Given the description of an element on the screen output the (x, y) to click on. 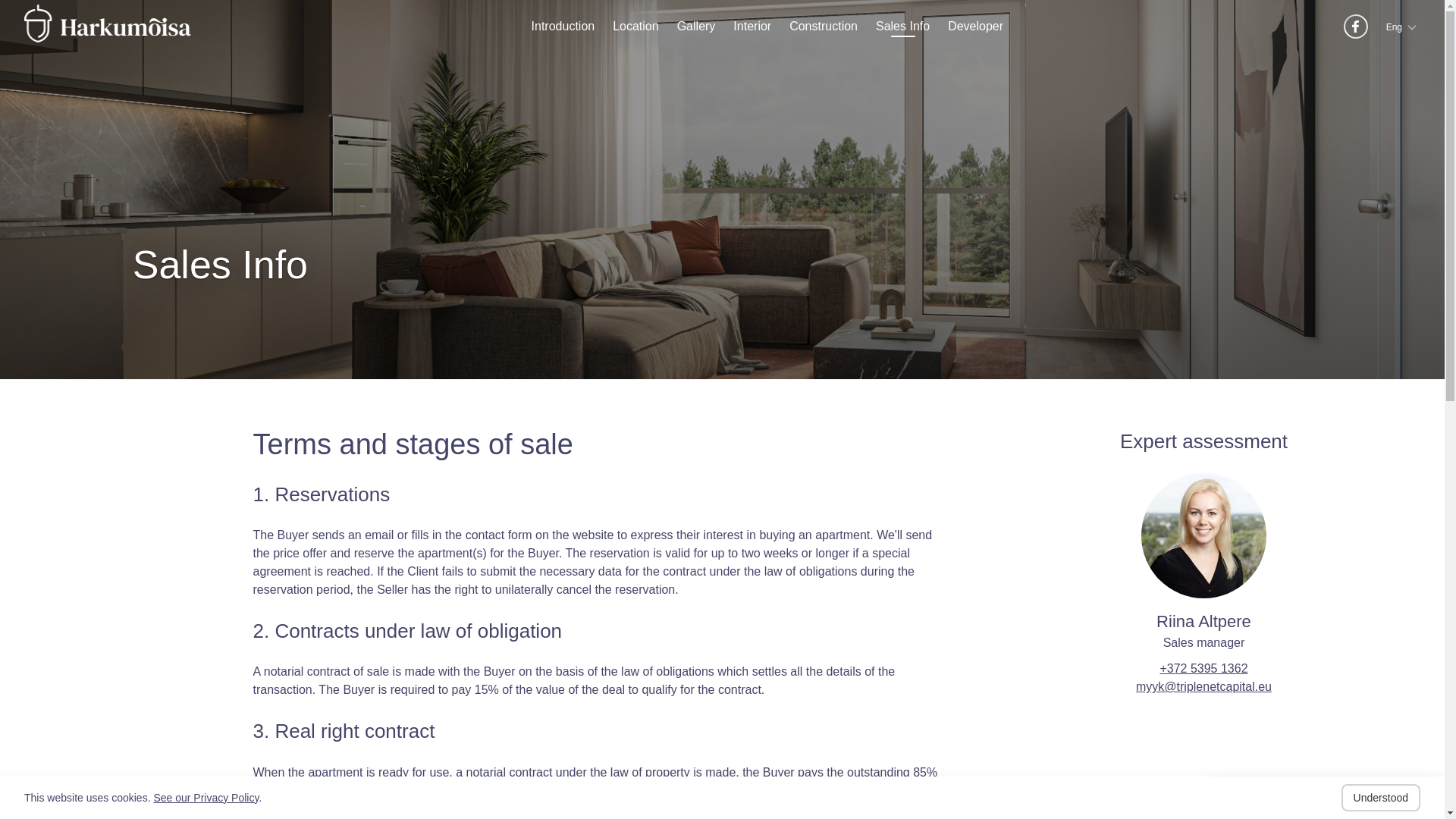
Sales Info (903, 26)
Introduction (563, 26)
Construction (823, 26)
See our Privacy Policy (205, 797)
Location (635, 26)
Interior (752, 26)
Eng (1403, 26)
Gallery (696, 26)
Developer (975, 26)
